Given the description of an element on the screen output the (x, y) to click on. 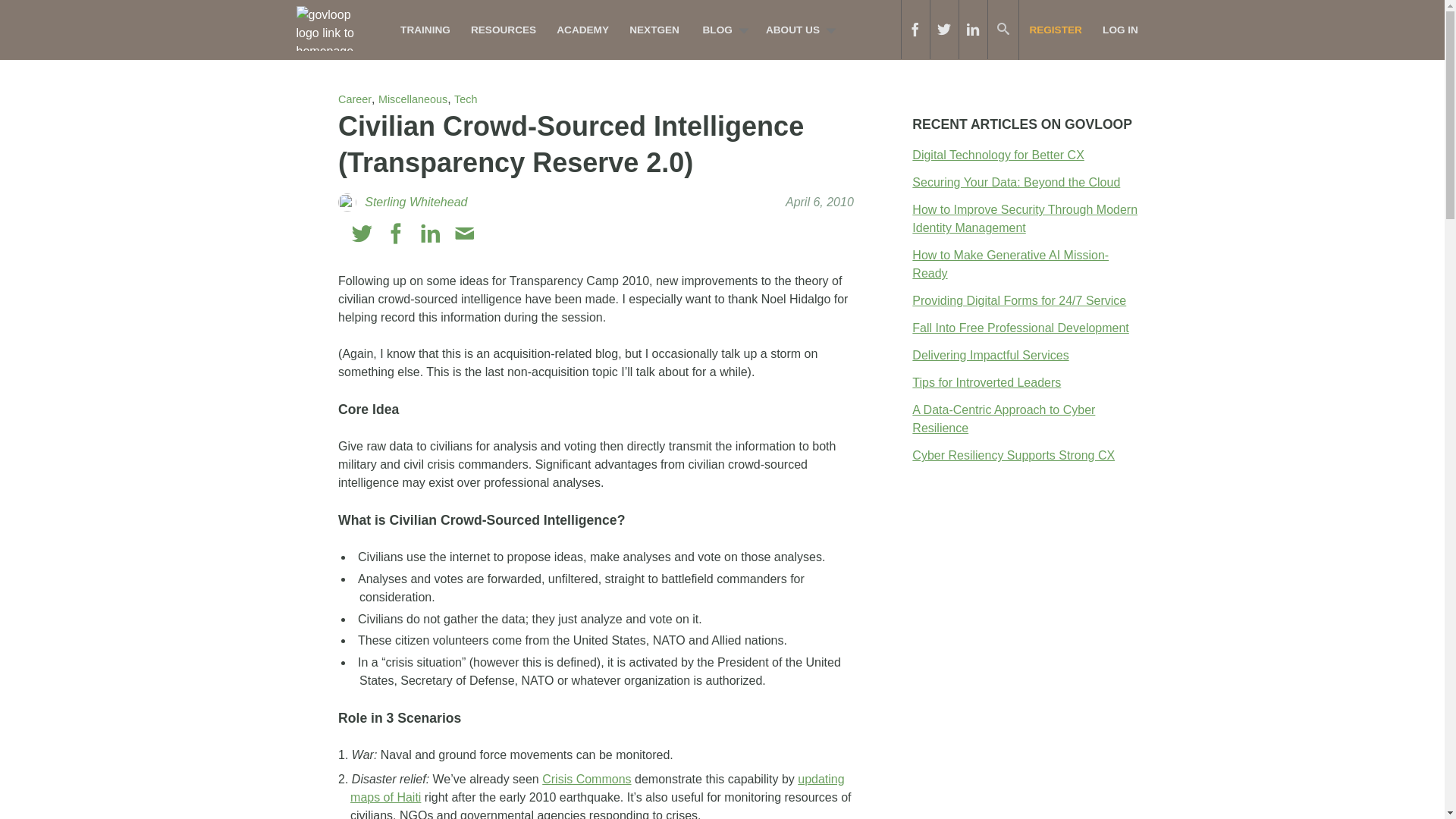
TRAINING (425, 29)
Career (354, 99)
Twitter (362, 233)
Email (464, 233)
NEXTGEN (655, 29)
REGISTER (1056, 29)
BLOG (721, 29)
ABOUT US (796, 29)
LOG IN (1120, 29)
RESOURCES (503, 29)
